Given the description of an element on the screen output the (x, y) to click on. 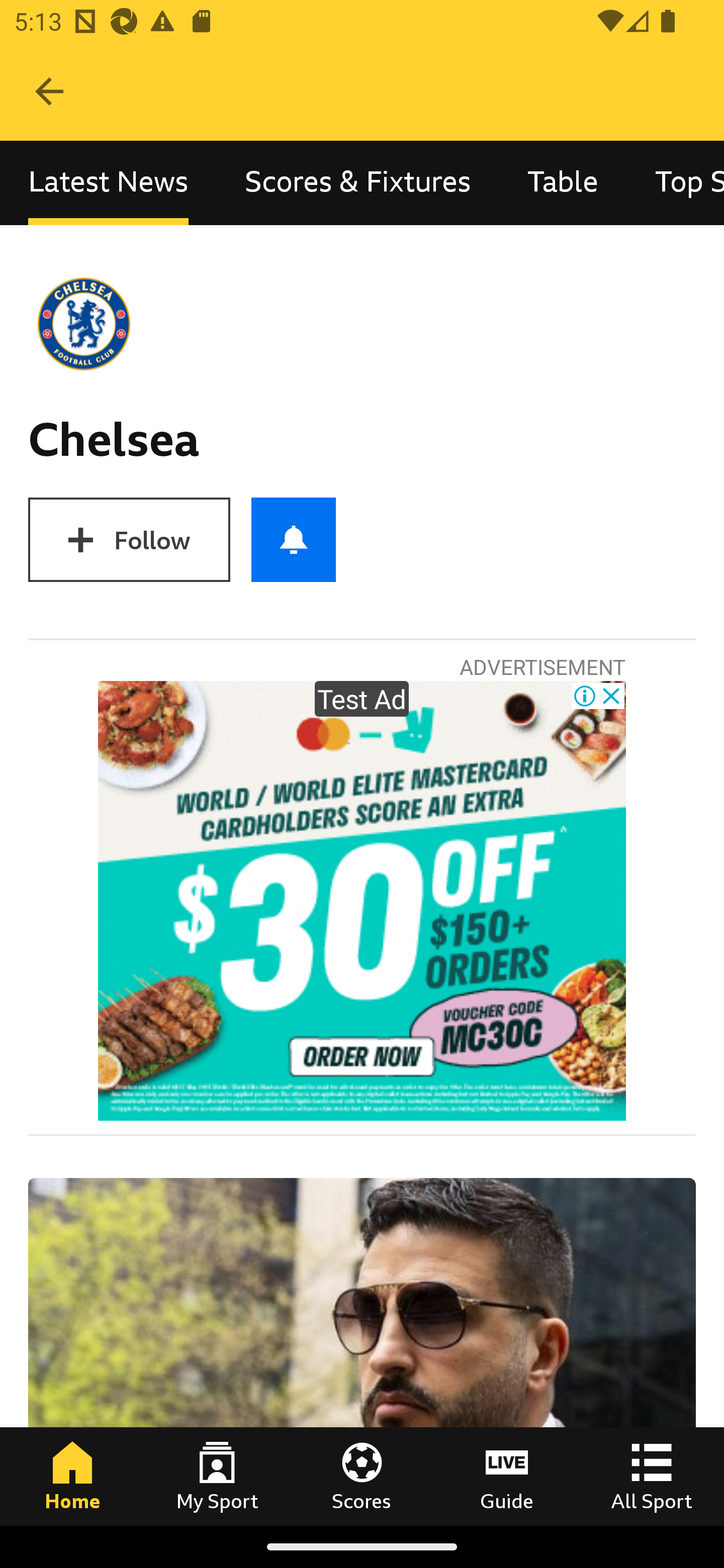
Navigate up (49, 91)
Latest News, selected Latest News (108, 183)
Scores & Fixtures (357, 183)
Table (562, 183)
Follow Chelsea Follow (129, 539)
Push notifications for Chelsea (293, 539)
Advertisement (361, 900)
My Sport (216, 1475)
Scores (361, 1475)
Guide (506, 1475)
All Sport (651, 1475)
